Given the description of an element on the screen output the (x, y) to click on. 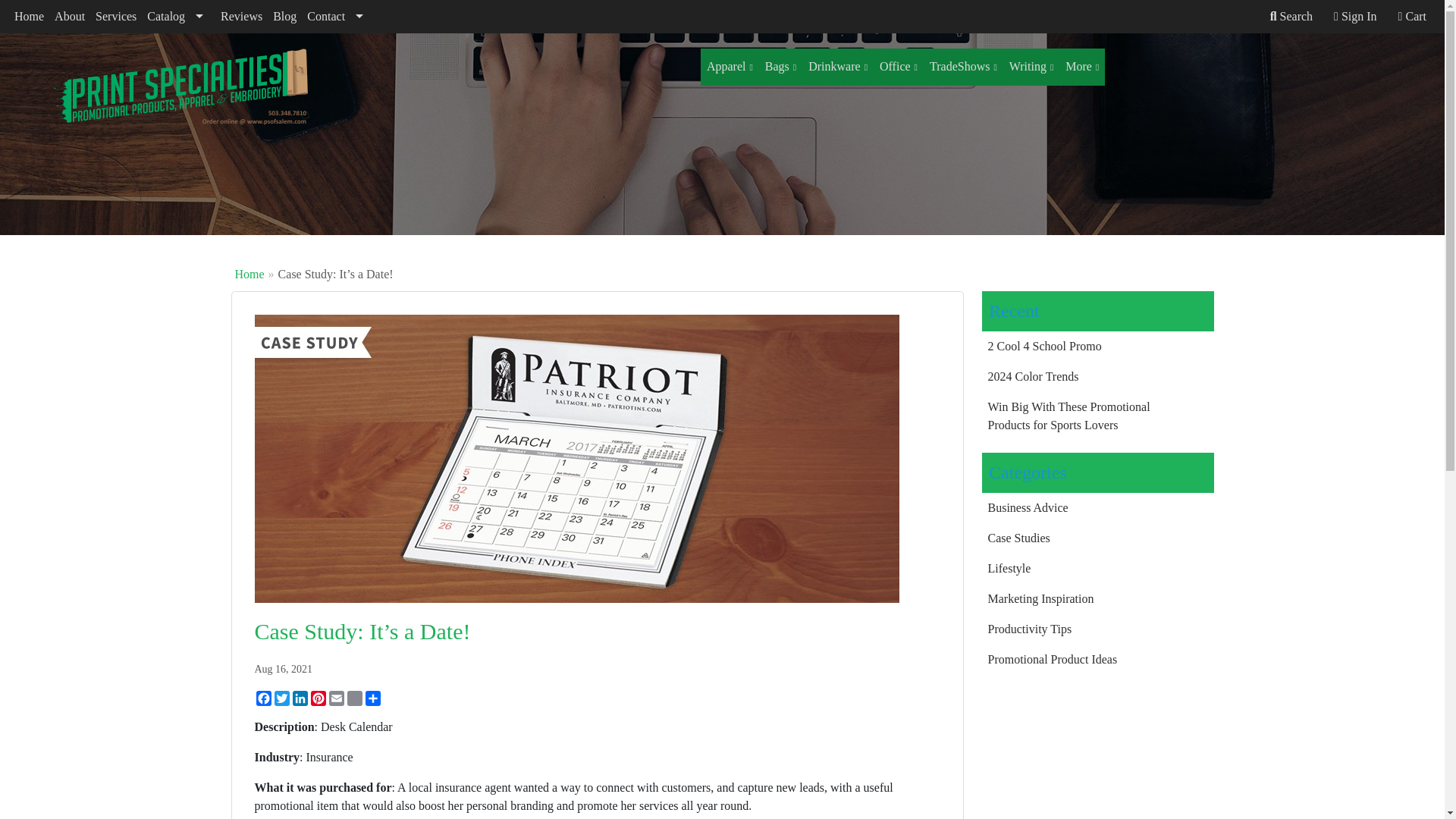
Services (115, 16)
Apparel (729, 66)
Cart (1412, 16)
Contact (338, 16)
Blog (284, 16)
Reviews (241, 16)
Sign In (1354, 16)
Home (28, 16)
About (69, 16)
Search (1291, 16)
